Given the description of an element on the screen output the (x, y) to click on. 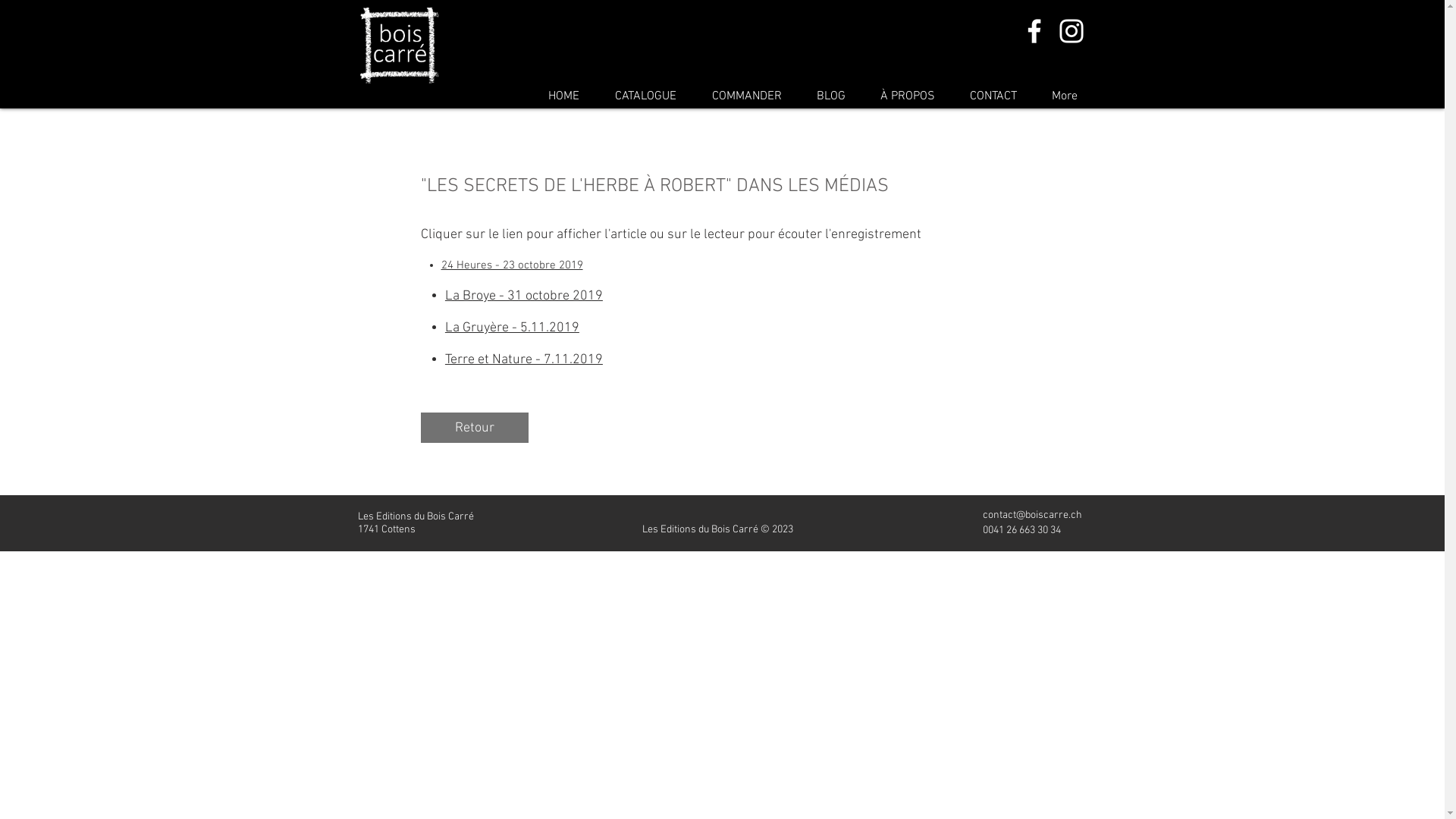
contact@boiscarre.ch Element type: text (1032, 514)
CATALOGUE Element type: text (645, 96)
CONTACT Element type: text (993, 96)
COMMANDER Element type: text (746, 96)
BLOG Element type: text (830, 96)
Retour Element type: text (473, 427)
Terre et Nature - 7.11.2019 Element type: text (523, 359)
24 Heures - 23 octobre 2019 Element type: text (512, 265)
La Broye - 31 octobre 2019 Element type: text (523, 296)
HOME Element type: text (563, 96)
